Given the description of an element on the screen output the (x, y) to click on. 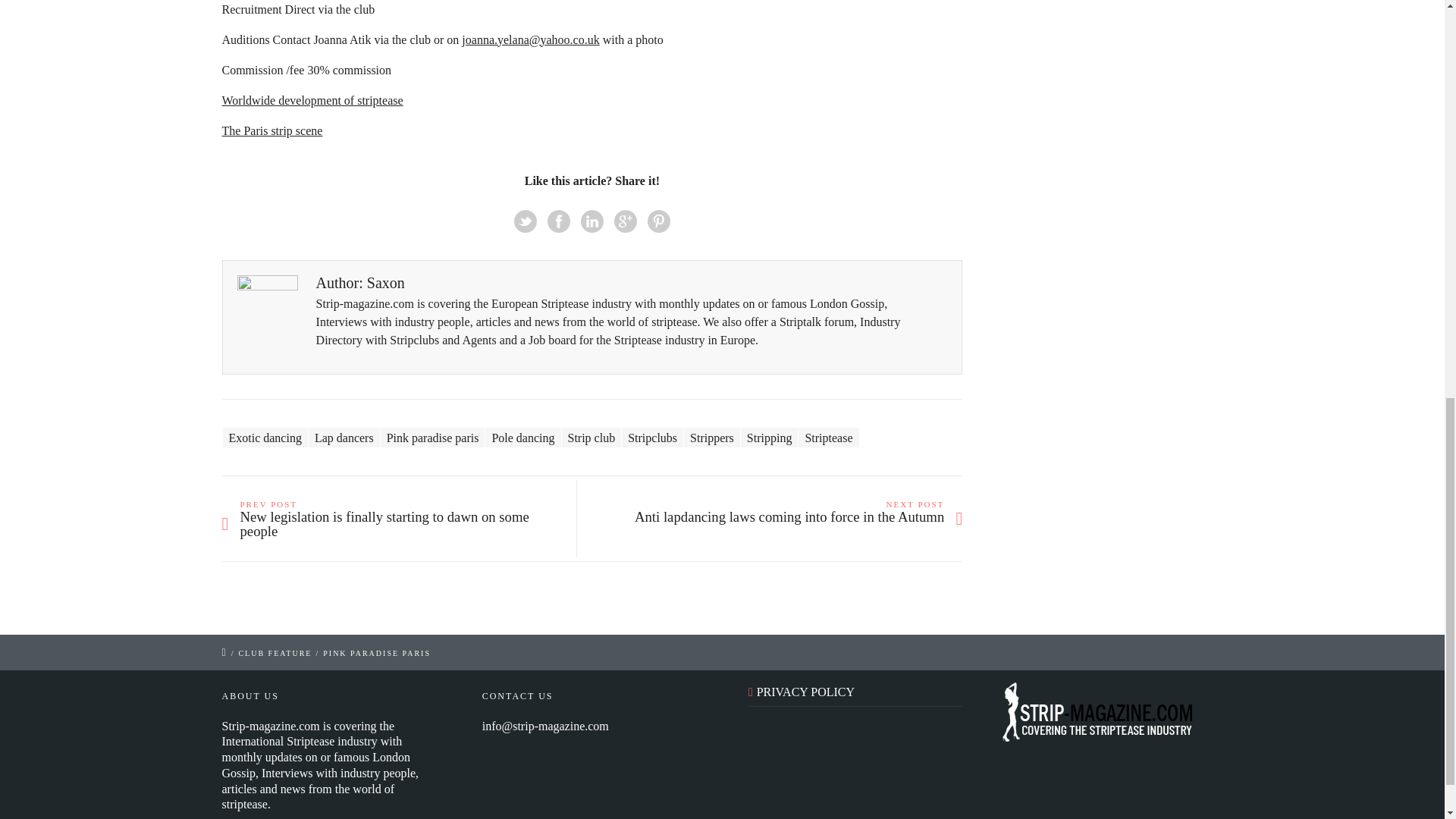
Pink paradise paris (432, 437)
The Paris strip scene (271, 130)
Facebook (558, 220)
Twitter (525, 220)
Exotic dancing (264, 437)
Stripping (769, 437)
Strip club (590, 437)
Worldwide development of striptease (312, 100)
Strippers (711, 437)
Lap dancers (344, 437)
